Given the description of an element on the screen output the (x, y) to click on. 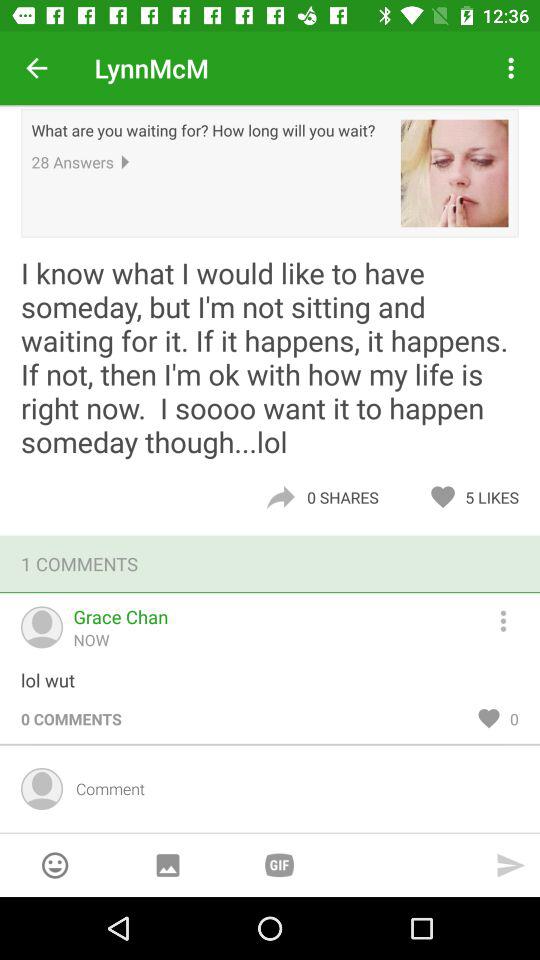
choose item below 0 comments item (290, 788)
